Given the description of an element on the screen output the (x, y) to click on. 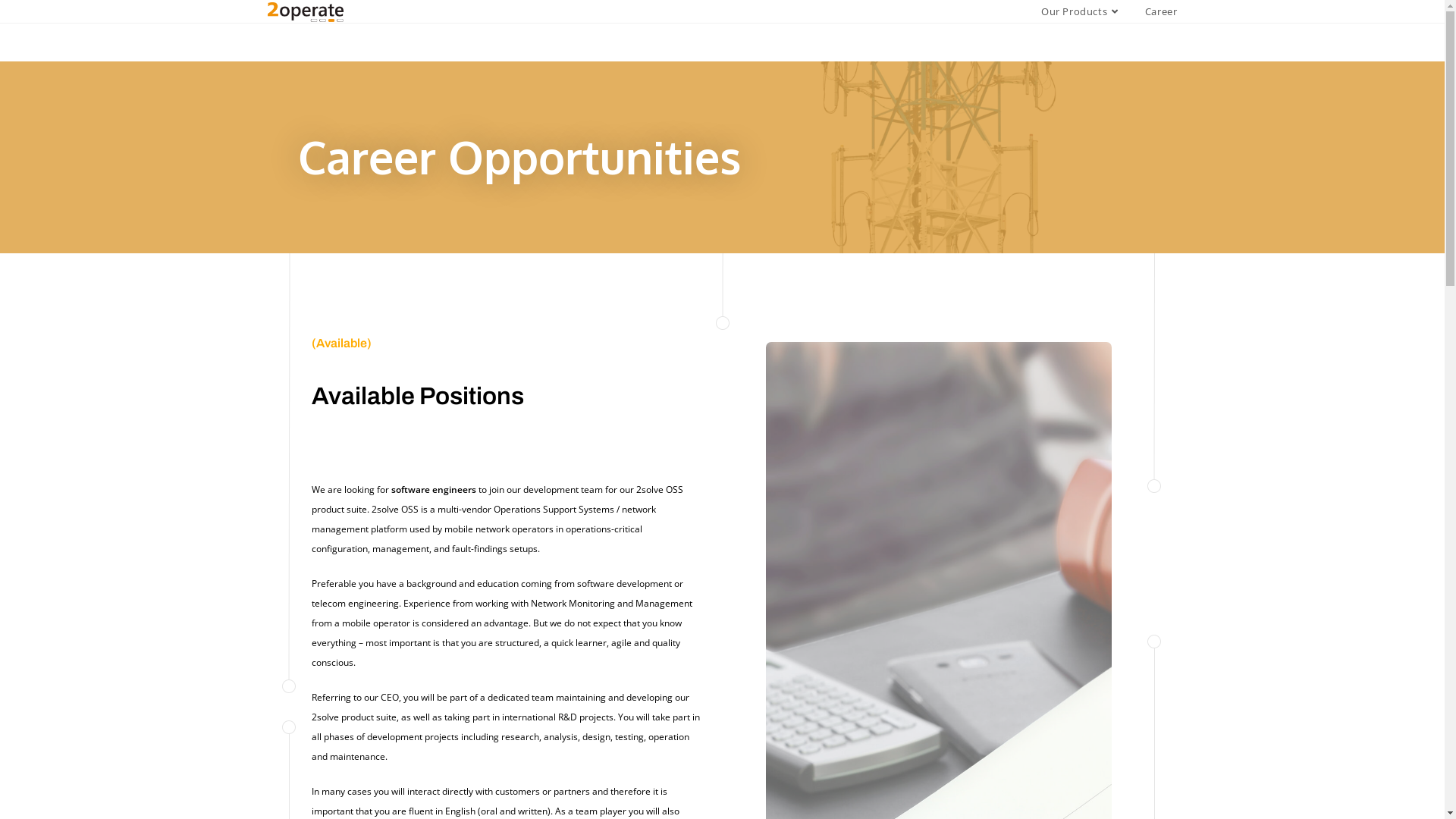
Our Products Element type: text (1081, 11)
Career Element type: text (1161, 11)
